Given the description of an element on the screen output the (x, y) to click on. 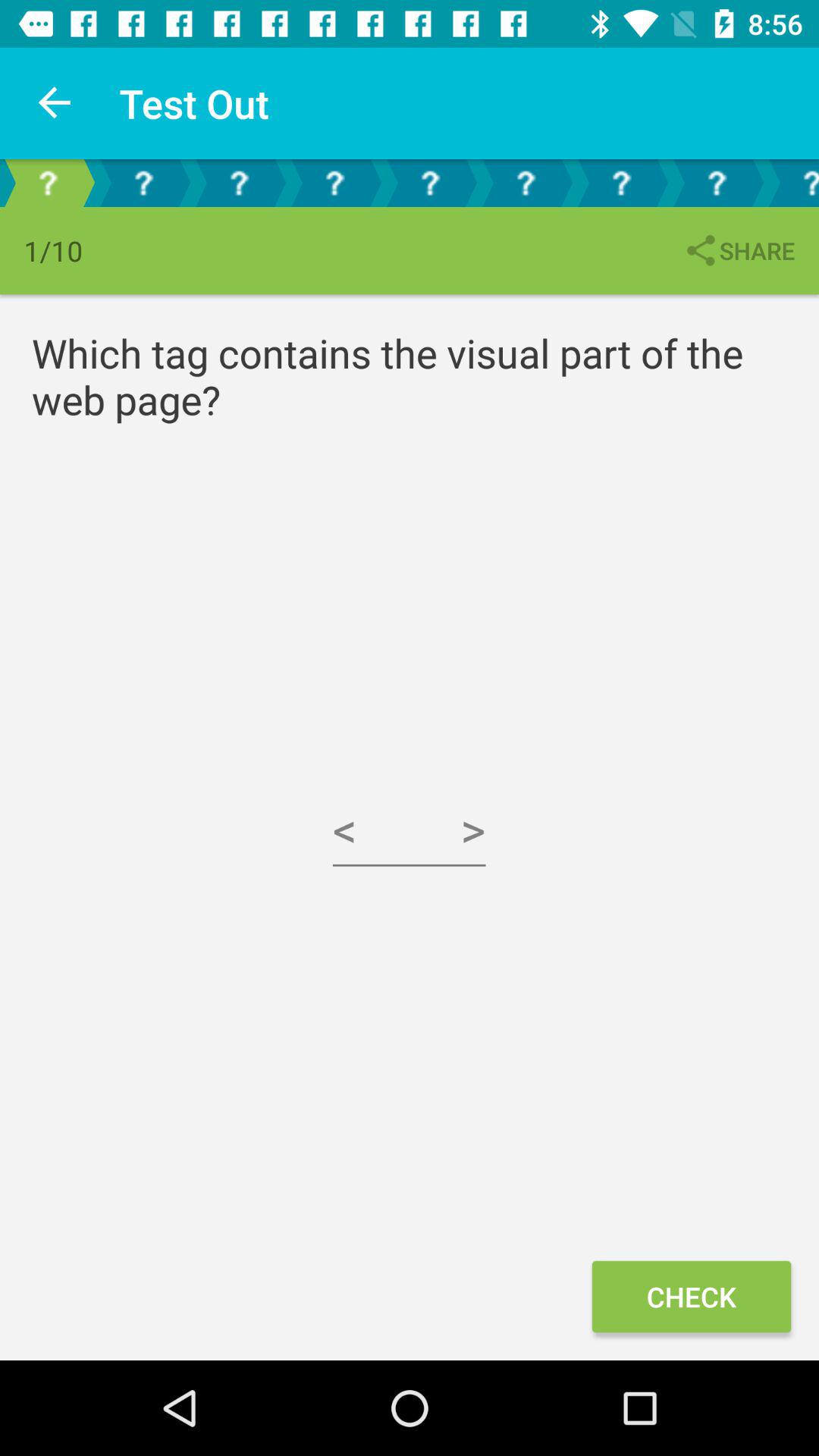
scroll to the share item (738, 250)
